Given the description of an element on the screen output the (x, y) to click on. 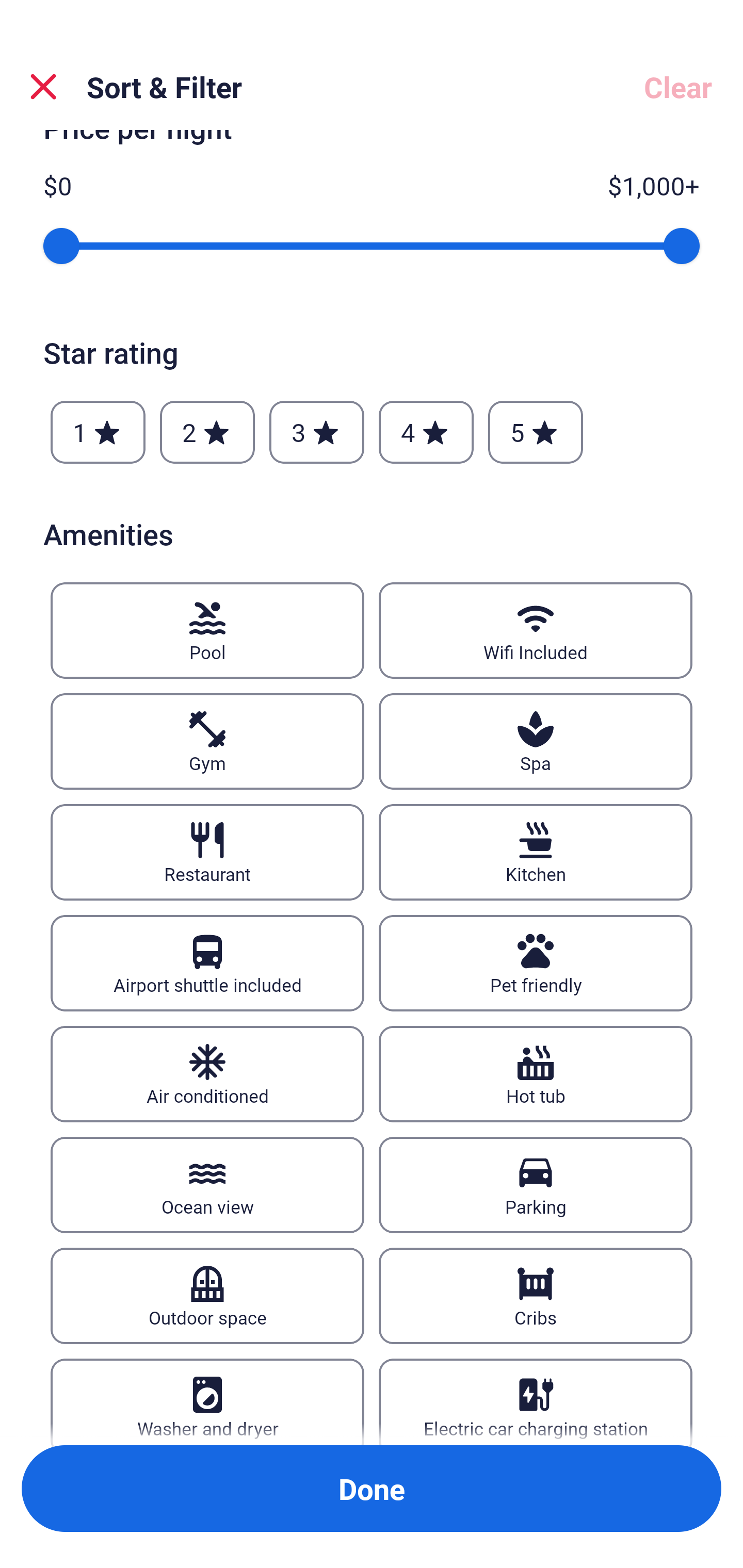
Close Sort and Filter (43, 86)
Clear (677, 86)
1 (97, 431)
2 (206, 431)
3 (316, 431)
4 (426, 431)
5 (535, 431)
Pool (207, 629)
Wifi Included (535, 629)
Gym (207, 741)
Spa (535, 741)
Restaurant (207, 852)
Kitchen (535, 852)
Airport shuttle included (207, 963)
Pet friendly (535, 963)
Air conditioned (207, 1073)
Hot tub (535, 1073)
Ocean view (207, 1185)
Parking (535, 1185)
Outdoor space (207, 1295)
Cribs (535, 1295)
Washer and dryer (207, 1401)
Electric car charging station (535, 1401)
Apply and close Sort and Filter Done (371, 1488)
